Given the description of an element on the screen output the (x, y) to click on. 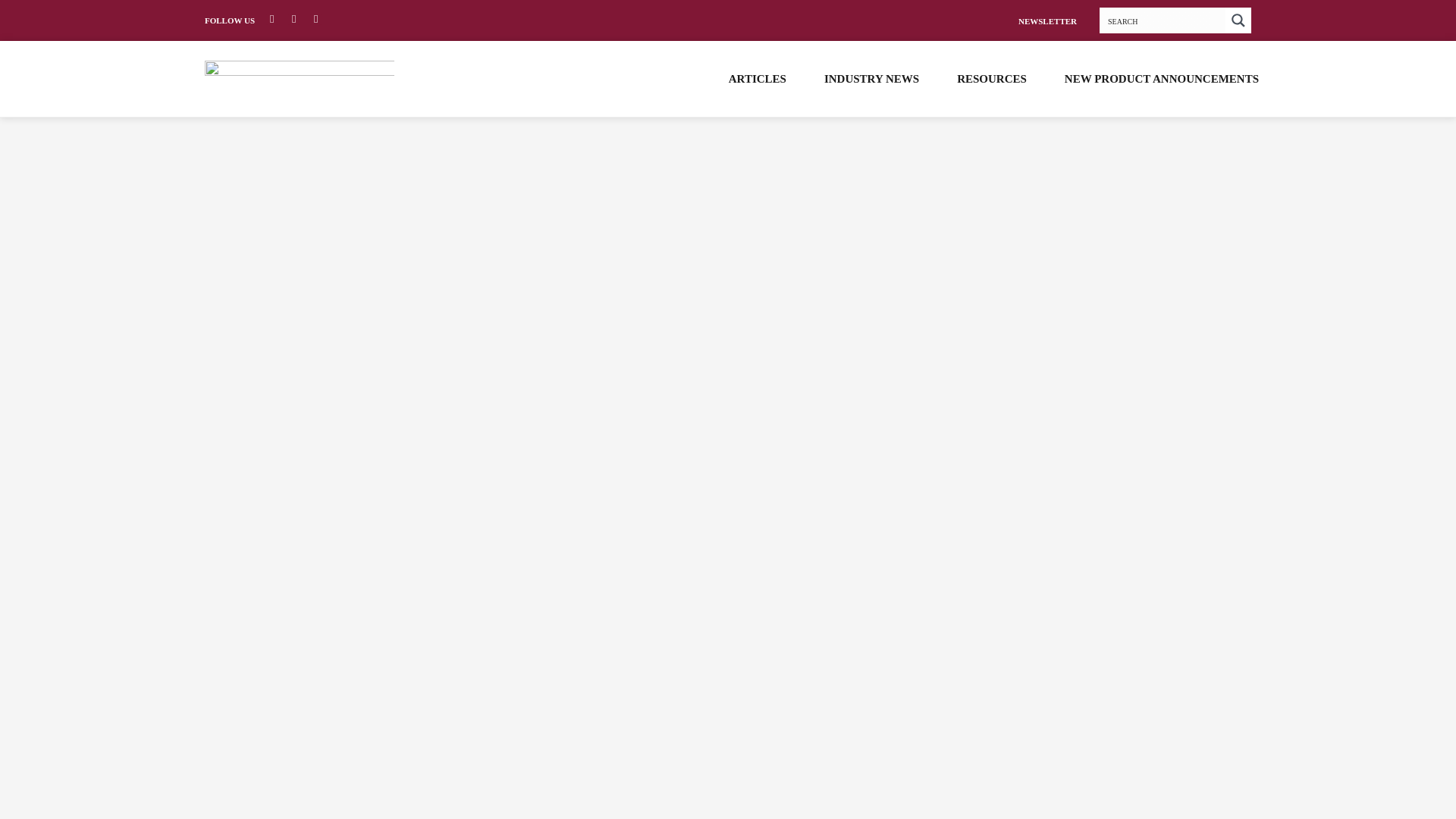
NEWSLETTER (1047, 20)
INDUSTRY NEWS (871, 78)
ARTICLES (757, 78)
NEW PRODUCT ANNOUNCEMENTS (1161, 78)
RESOURCES (991, 78)
